Given the description of an element on the screen output the (x, y) to click on. 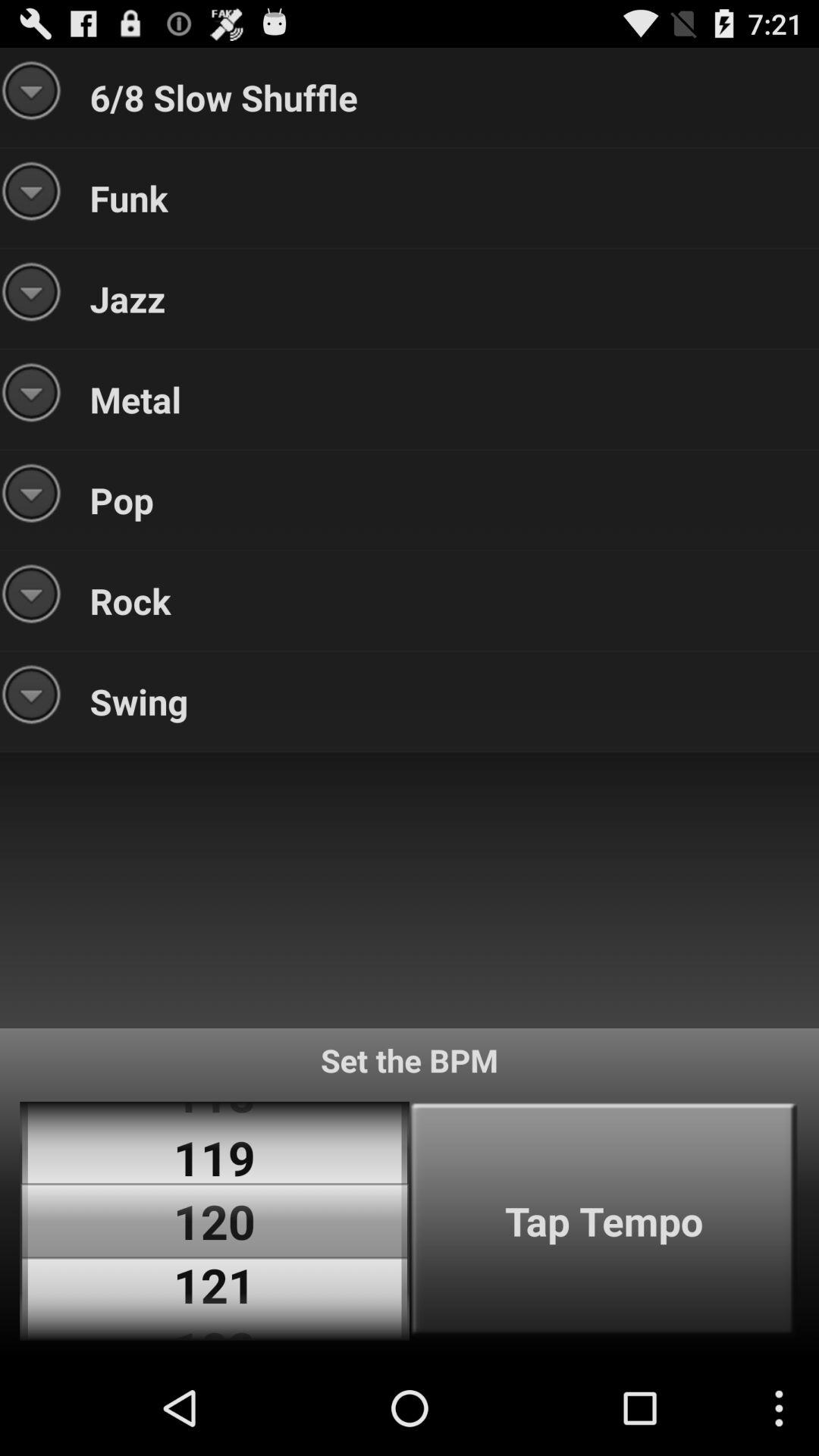
press app below the set the bpm icon (604, 1220)
